Given the description of an element on the screen output the (x, y) to click on. 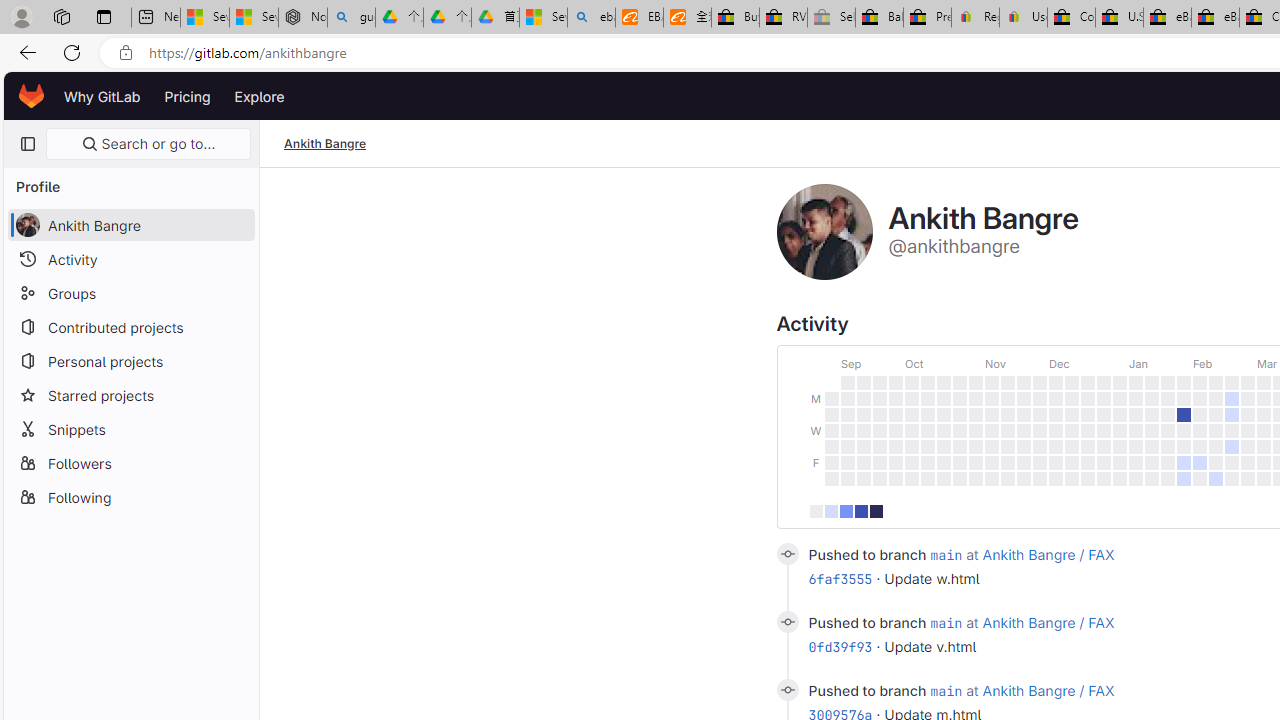
Followers (130, 462)
main (946, 690)
6faf3555 (839, 579)
